Given the description of an element on the screen output the (x, y) to click on. 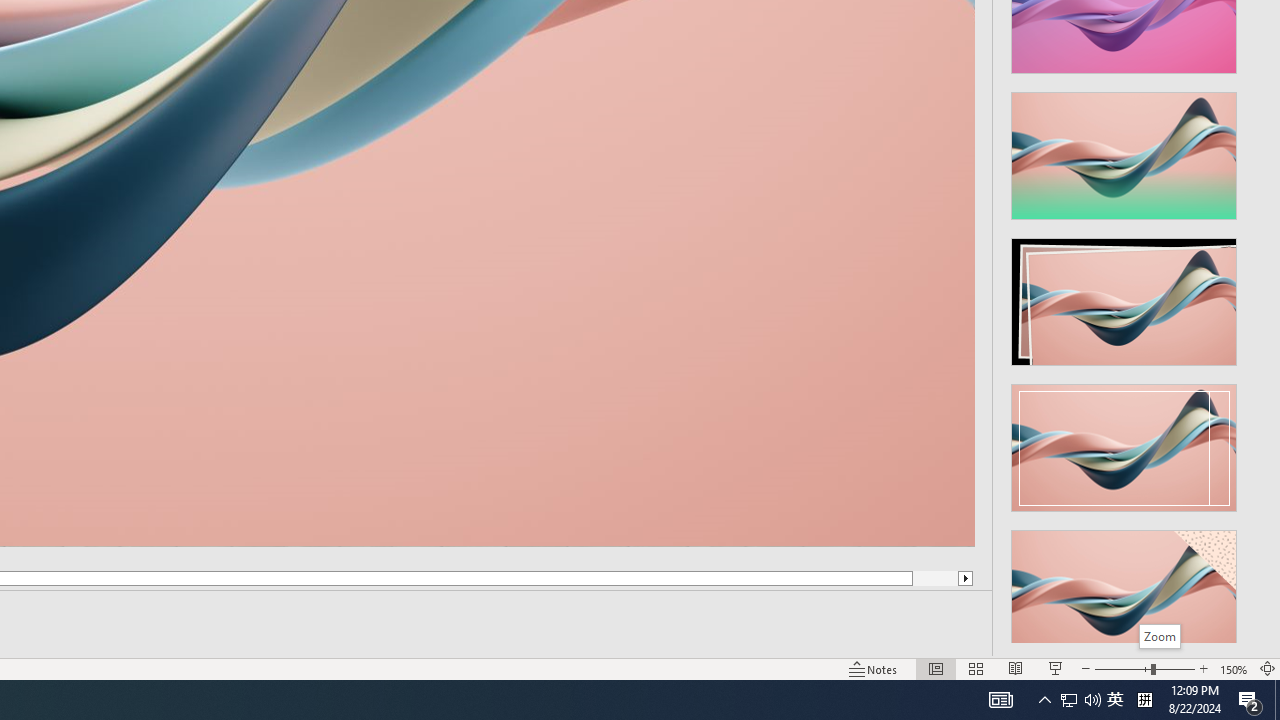
Zoom 150% (1234, 668)
